Given the description of an element on the screen output the (x, y) to click on. 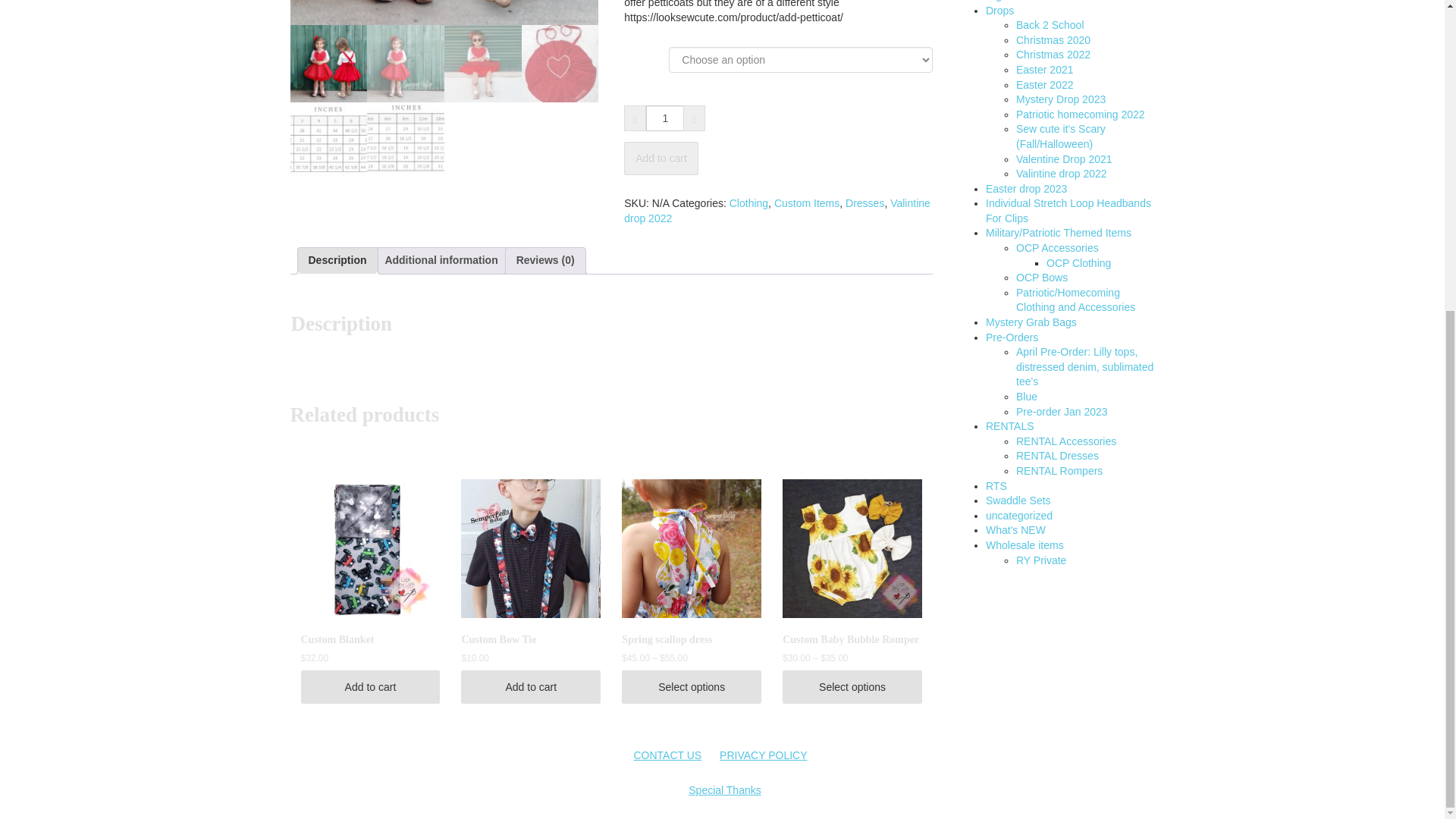
Qty (665, 118)
Description (336, 260)
CCAFAA6E-3E8F-4013-B81F-1E8D05AF65B9 (443, 12)
Custom Items (807, 203)
Dresses (864, 203)
Add to cart (661, 158)
1 (665, 118)
Additional information (440, 260)
Clothing (748, 203)
Valintine drop 2022 (777, 210)
